Given the description of an element on the screen output the (x, y) to click on. 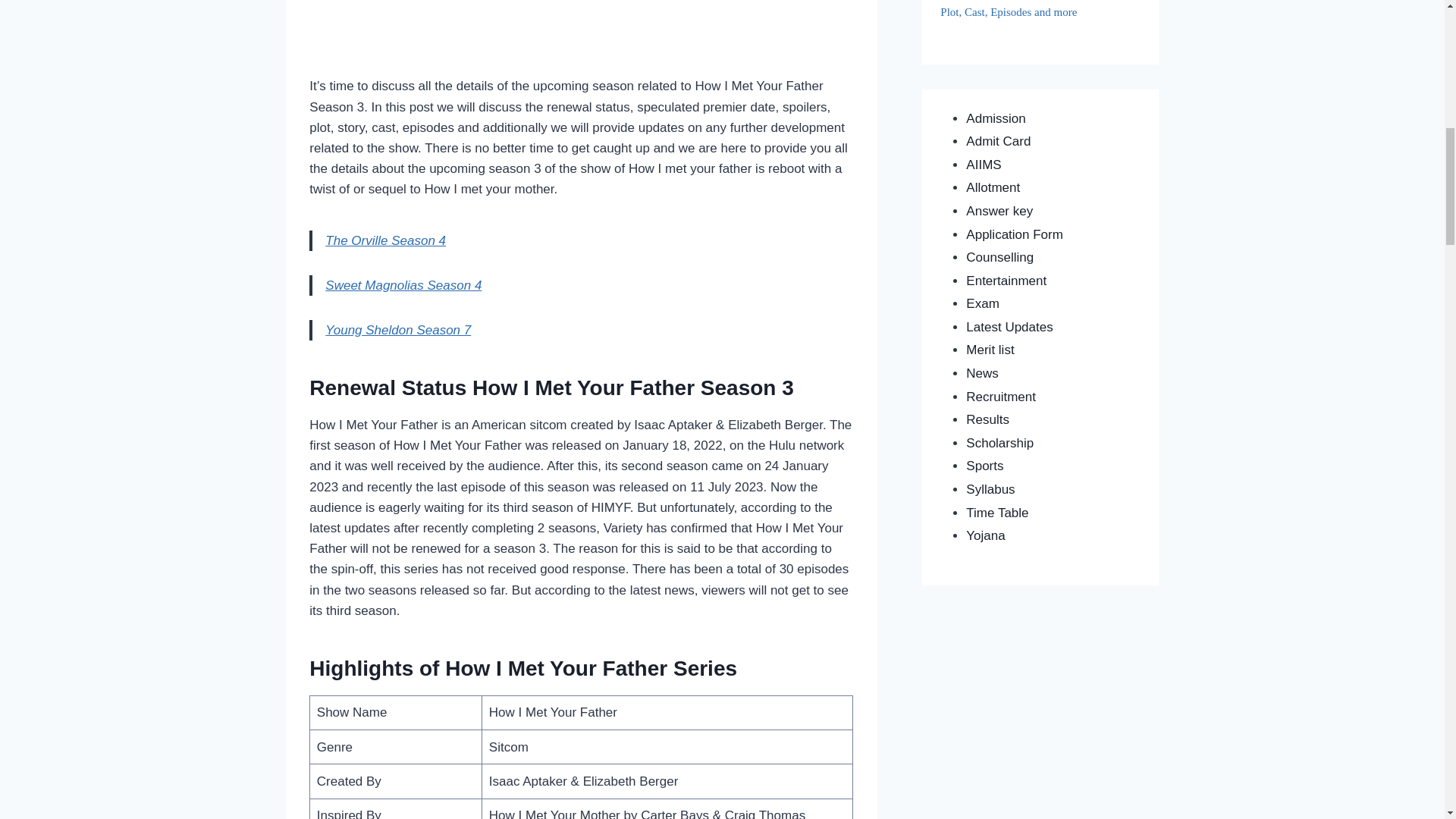
Answer key (999, 210)
Counselling (999, 257)
Young Sheldon Season 7 (397, 329)
The Orville Season 4 (384, 240)
Admit Card (998, 141)
Application Form (1014, 234)
Advertisement (580, 34)
Admission (995, 118)
Allotment (993, 187)
Sweet Magnolias Season 4 (402, 285)
AIIMS (983, 164)
